Given the description of an element on the screen output the (x, y) to click on. 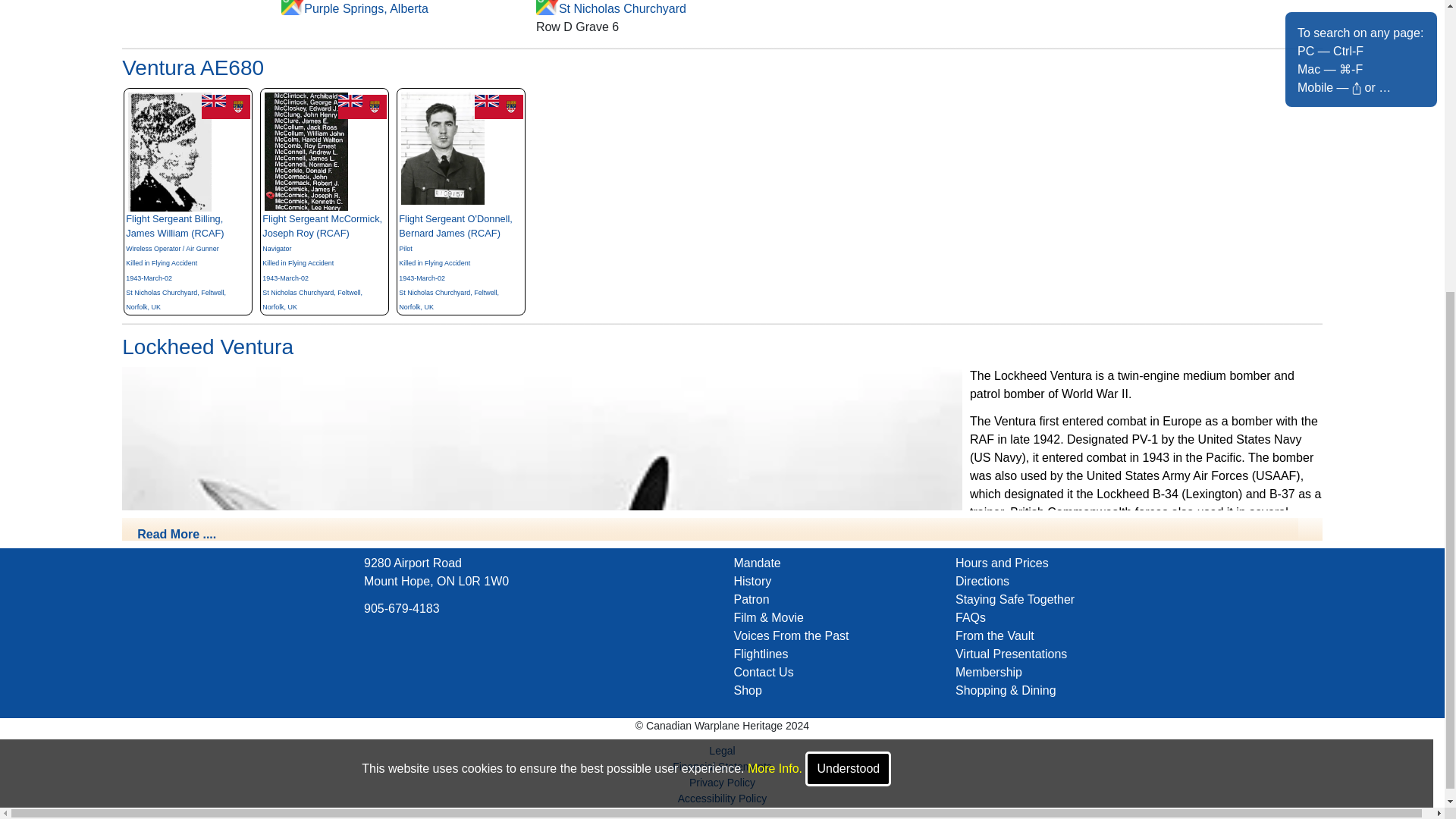
Click for Google Map (547, 7)
Click for Google Map (292, 7)
